Given the description of an element on the screen output the (x, y) to click on. 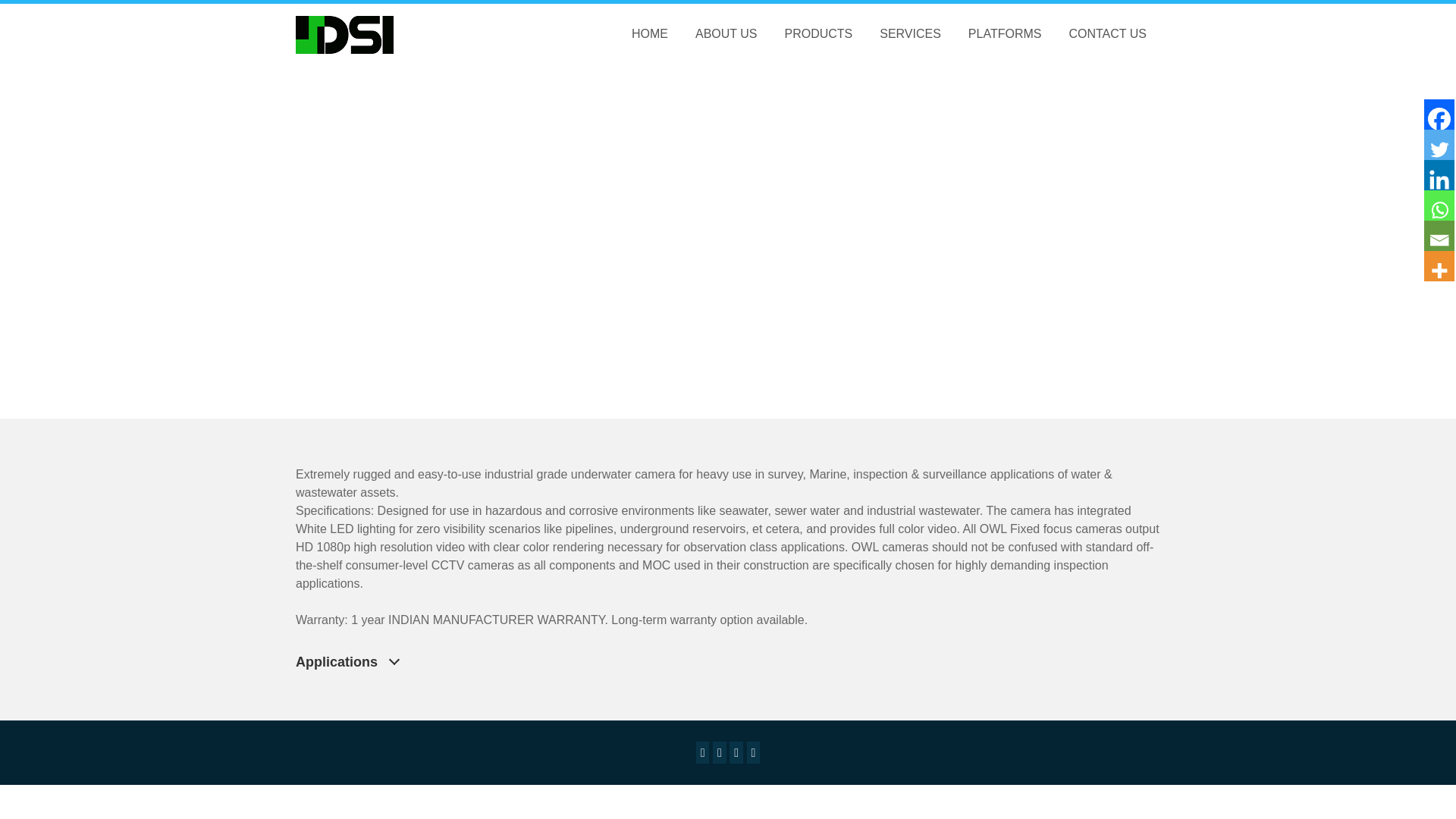
HOME (649, 34)
PRODUCTS (818, 34)
ABOUT US (726, 34)
PLATFORMS (1005, 34)
CONTACT US (1107, 34)
About Us (726, 34)
Services (910, 34)
Products (818, 34)
SERVICES (910, 34)
Home (649, 34)
